Given the description of an element on the screen output the (x, y) to click on. 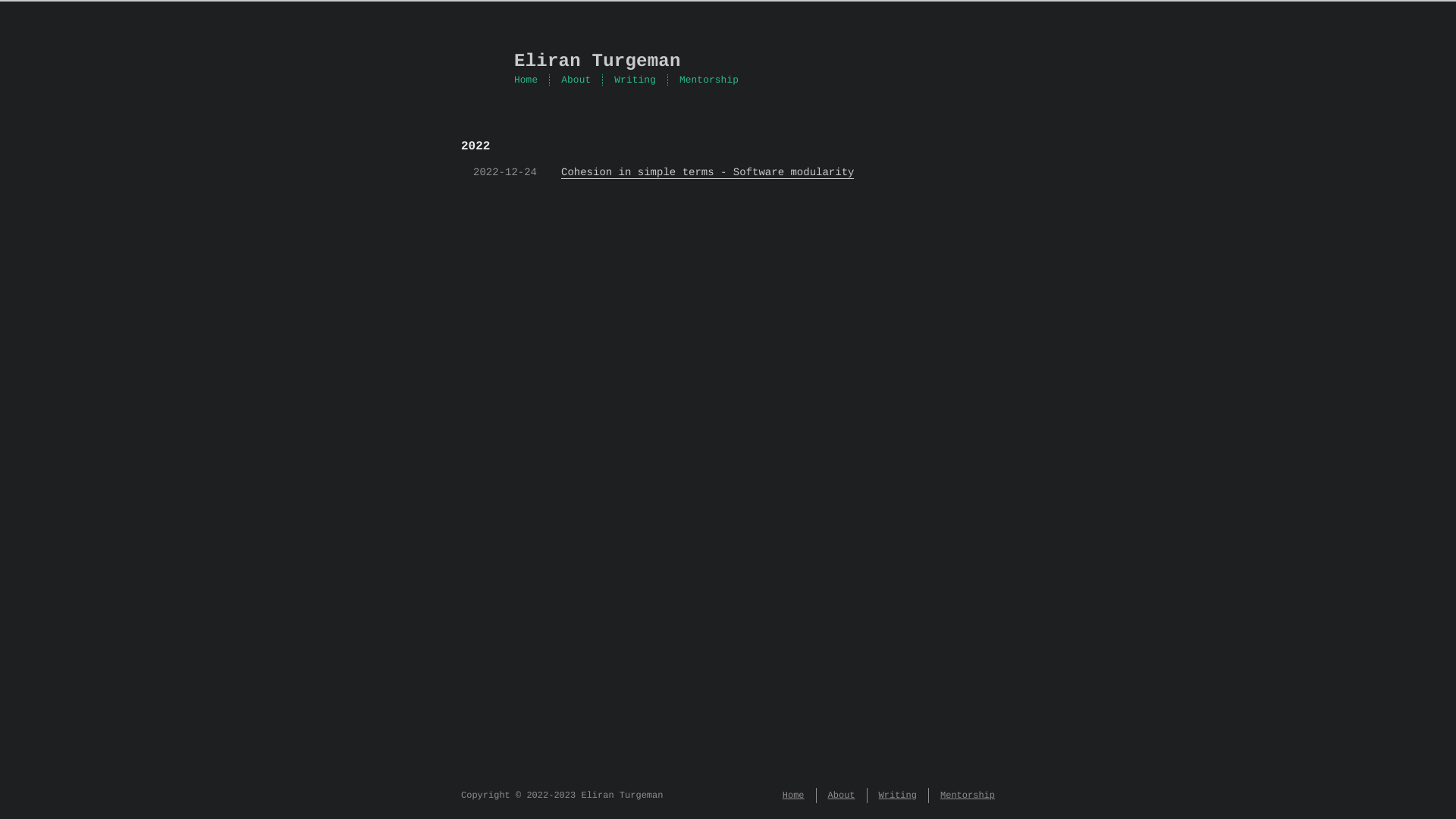
About Element type: text (575, 79)
Eliran Turgeman Element type: text (727, 62)
Home Element type: text (793, 795)
Writing Element type: text (634, 79)
Home Element type: text (525, 79)
Mentorship Element type: text (967, 795)
Writing Element type: text (897, 795)
Cohesion in simple terms - Software modularity Element type: text (707, 172)
About Element type: text (841, 795)
Mentorship Element type: text (708, 79)
